Given the description of an element on the screen output the (x, y) to click on. 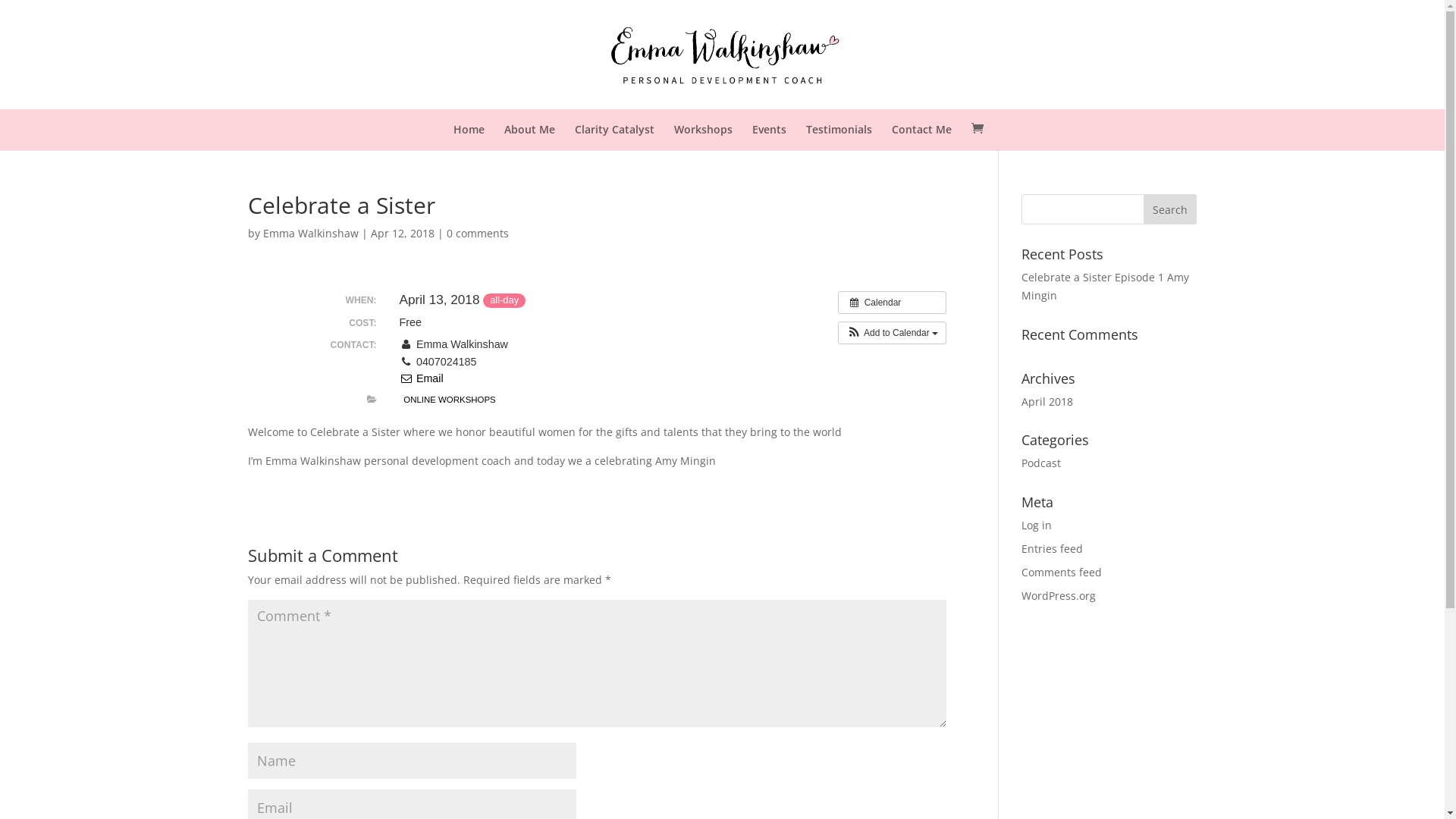
Contact Me Element type: text (921, 129)
Celebrate a Sister Episode 1 Amy Mingin Element type: text (1105, 285)
Entries feed Element type: text (1051, 548)
Email Element type: text (421, 378)
Categories Element type: hover (371, 399)
Comments feed Element type: text (1061, 571)
Search Element type: text (1169, 209)
Events Element type: text (769, 129)
0 comments Element type: text (477, 232)
ONLINE WORKSHOPS Element type: text (449, 399)
WordPress.org Element type: text (1058, 595)
Log in Element type: text (1036, 524)
Emma Walkinshaw Element type: text (310, 232)
April 2018 Element type: text (1047, 401)
Testimonials Element type: text (839, 129)
Home Element type: text (468, 129)
Podcast Element type: text (1040, 462)
Clarity Catalyst Element type: text (614, 129)
About Me Element type: text (529, 129)
Workshops Element type: text (703, 129)
Calendar Element type: text (891, 302)
